Given the description of an element on the screen output the (x, y) to click on. 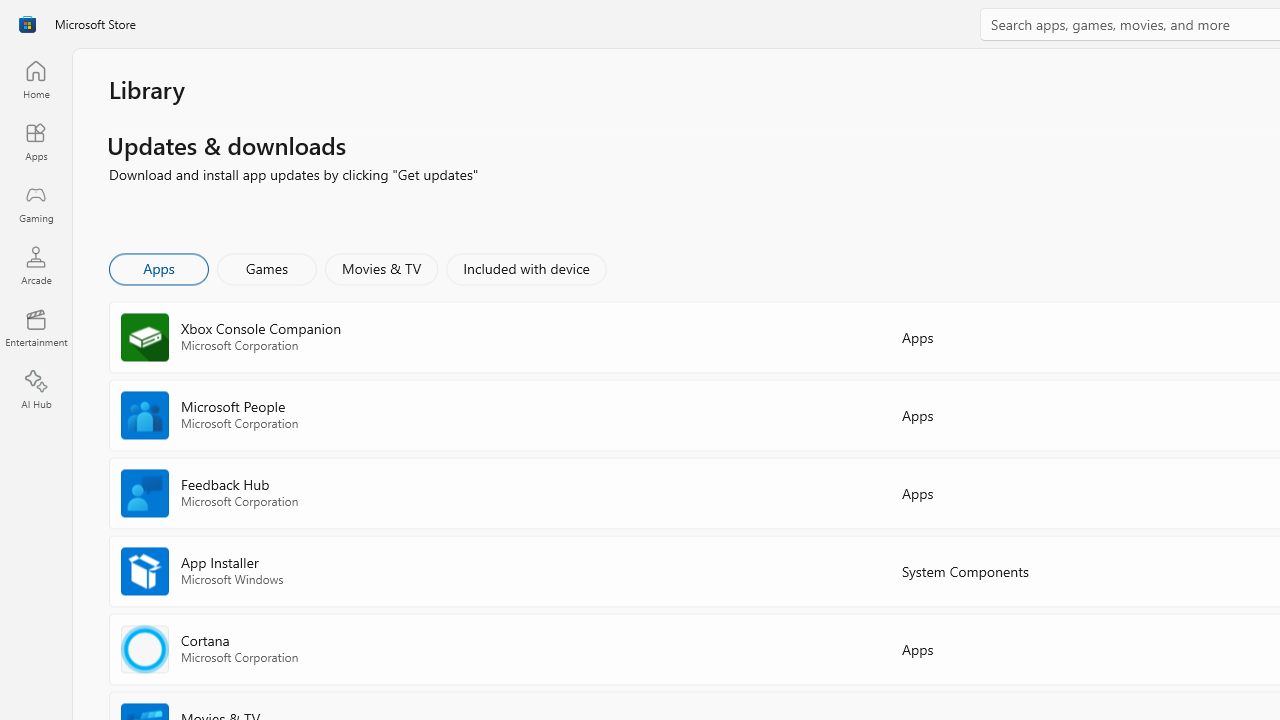
Games (267, 268)
Movies & TV (381, 268)
Included with device (525, 268)
